Given the description of an element on the screen output the (x, y) to click on. 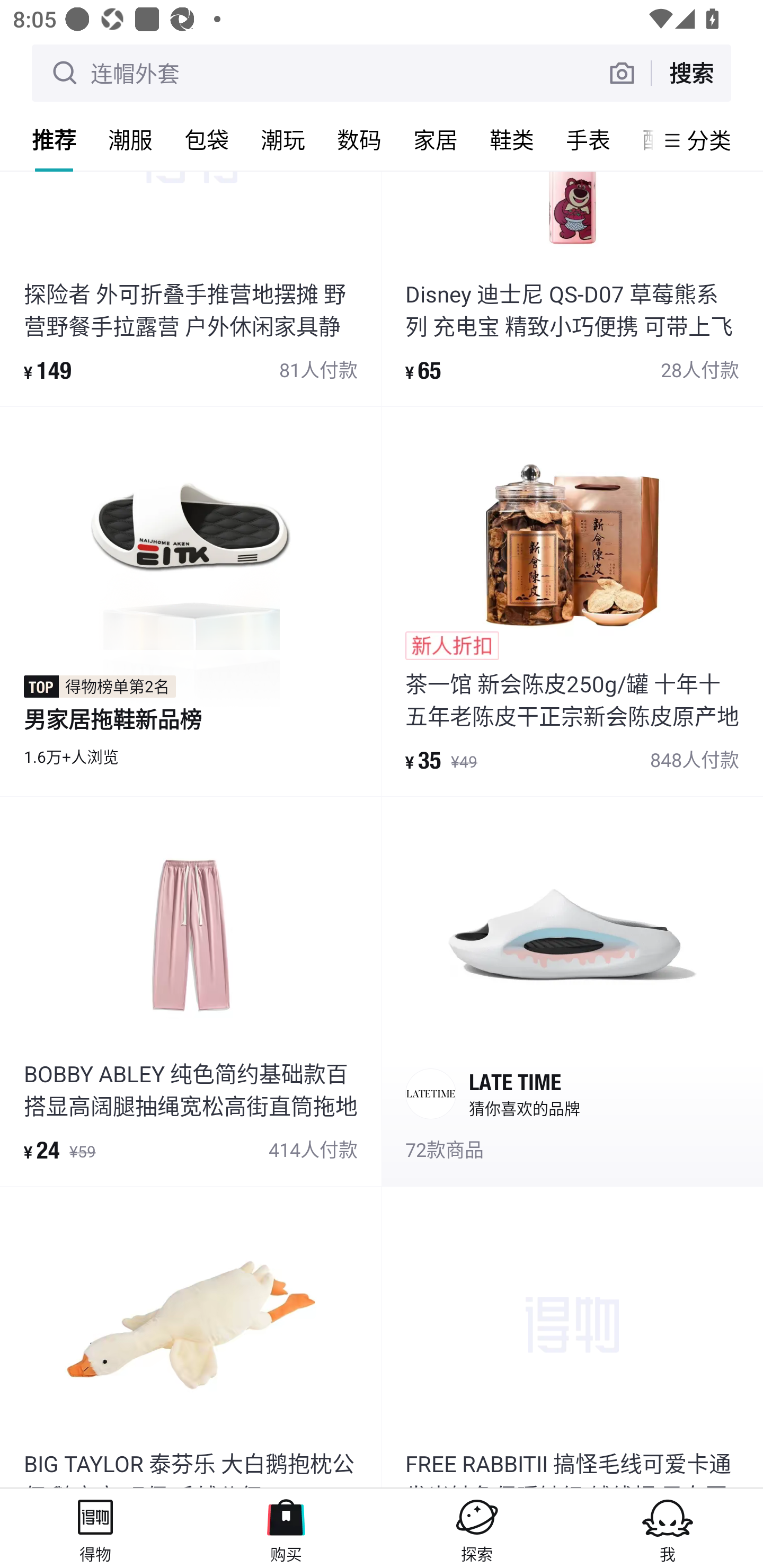
搜索 (690, 72)
推荐 (54, 139)
潮服 (130, 139)
包袋 (206, 139)
潮玩 (282, 139)
数码 (359, 139)
家居 (435, 139)
鞋类 (511, 139)
手表 (588, 139)
分类 (708, 139)
得物榜单第2名 男家居拖鞋新品榜 1.6万+人浏览 (190, 601)
LATE TIME 猜你喜欢的品牌 72款商品 (572, 990)
得物 (95, 1528)
购买 (285, 1528)
探索 (476, 1528)
我 (667, 1528)
